Given the description of an element on the screen output the (x, y) to click on. 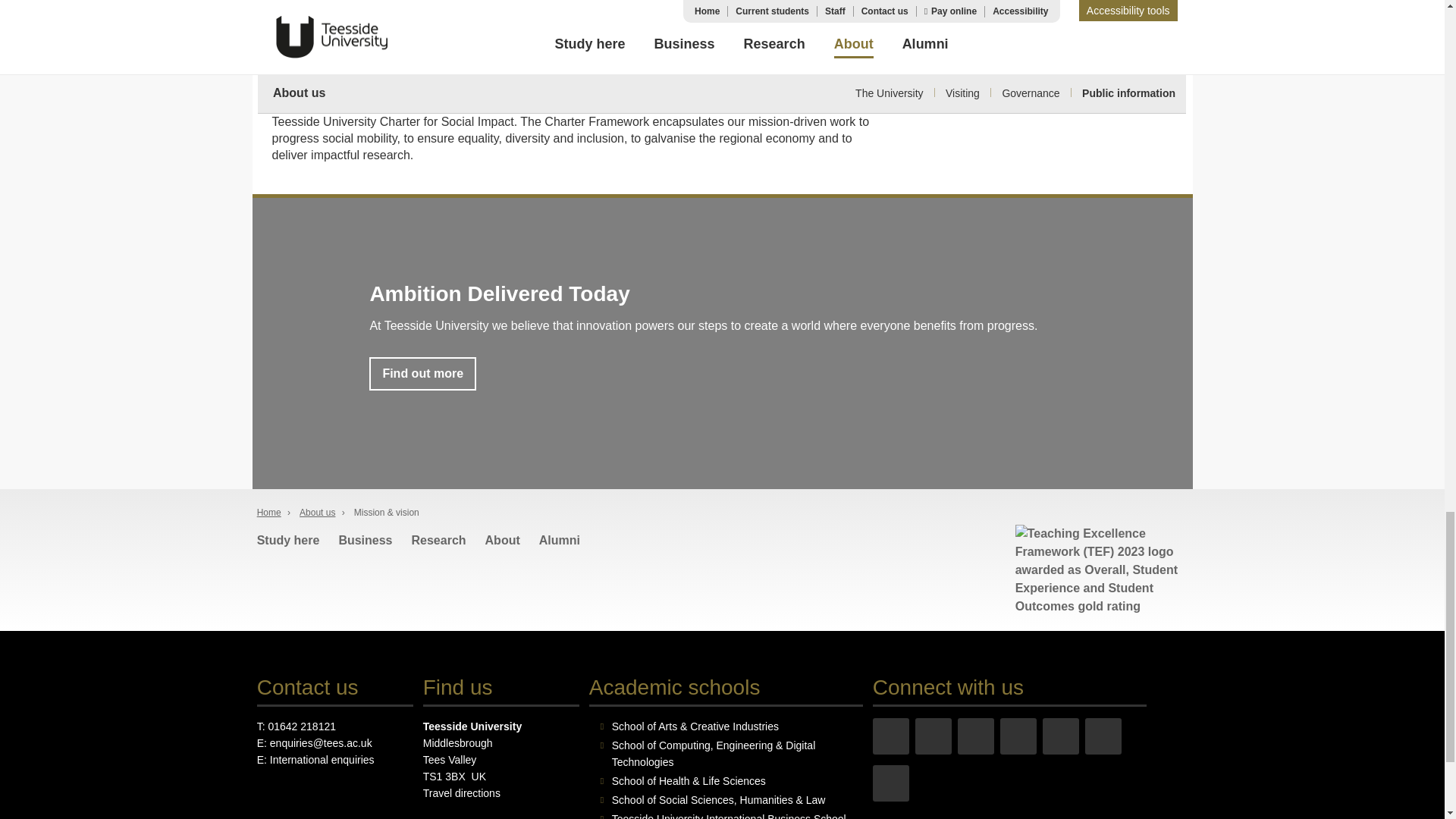
Contact us (307, 687)
About us (316, 511)
Home (269, 511)
